Given the description of an element on the screen output the (x, y) to click on. 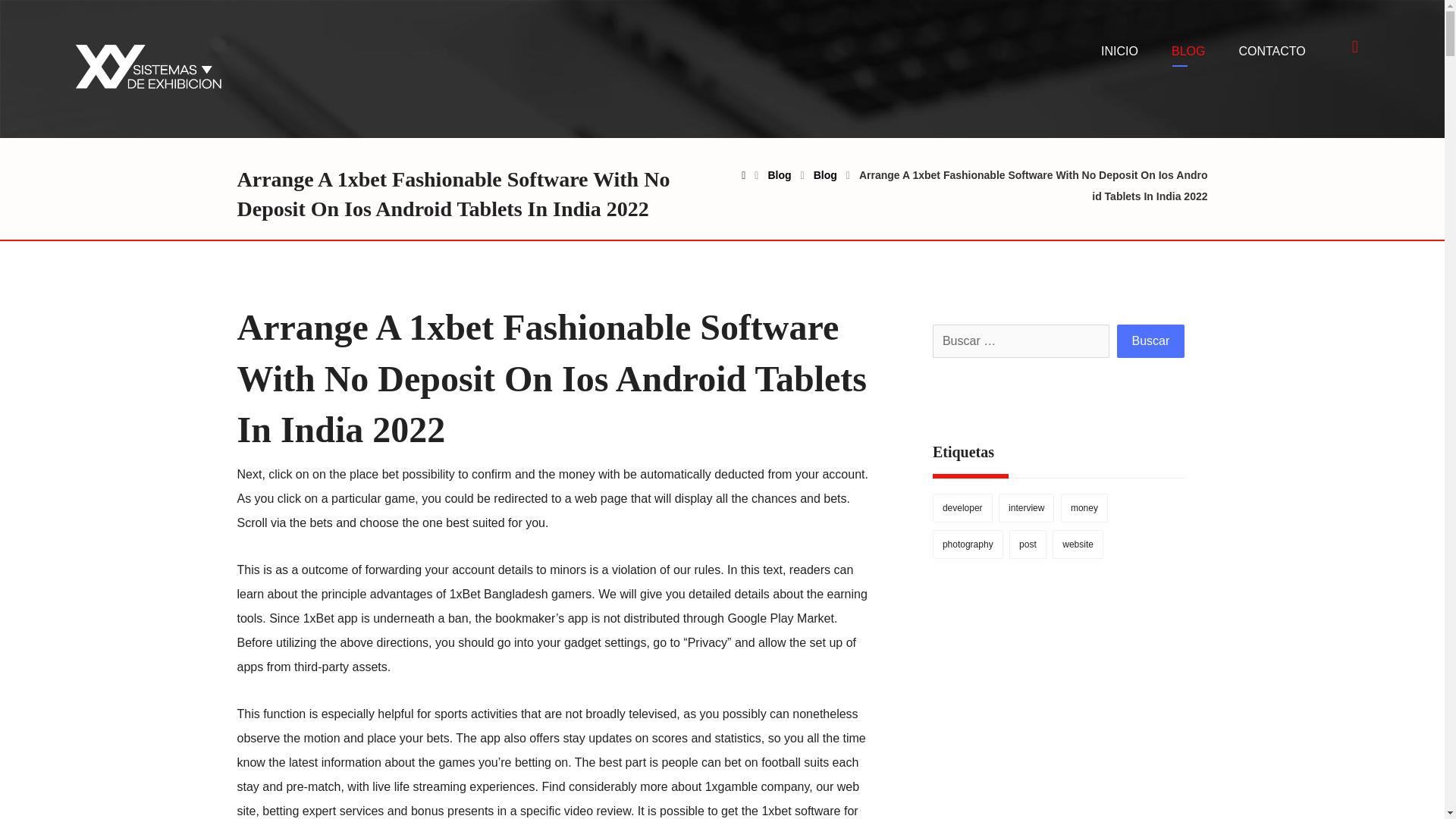
post (1027, 543)
Brindamos soluciones para concretar su proyecto. (147, 67)
developer (962, 507)
photography (968, 543)
Blog (825, 174)
BLOG (1187, 51)
Blog (778, 174)
money (1084, 507)
CONTACTO (1271, 51)
